Given the description of an element on the screen output the (x, y) to click on. 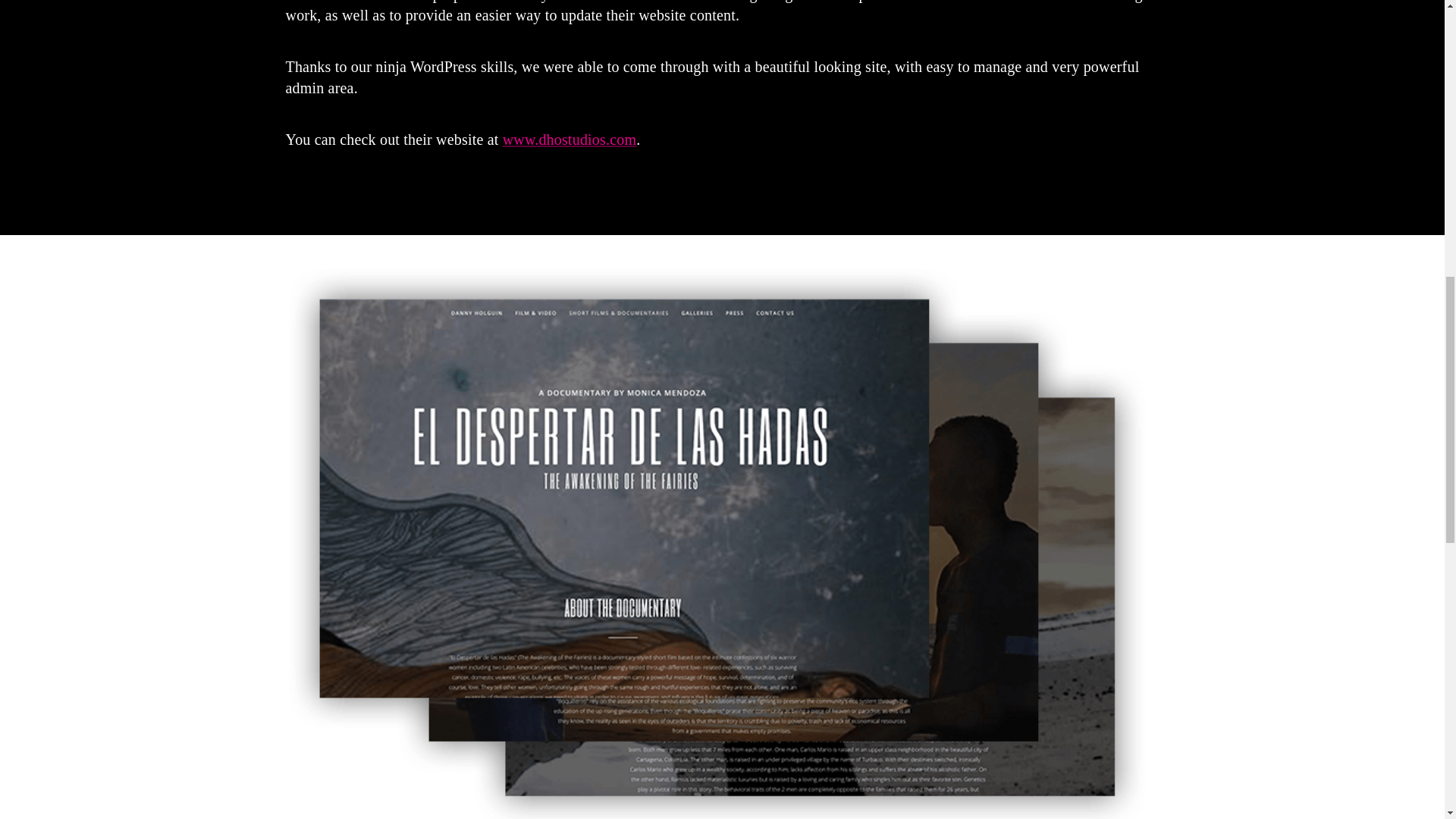
www.dhostudios.com (569, 139)
